Given the description of an element on the screen output the (x, y) to click on. 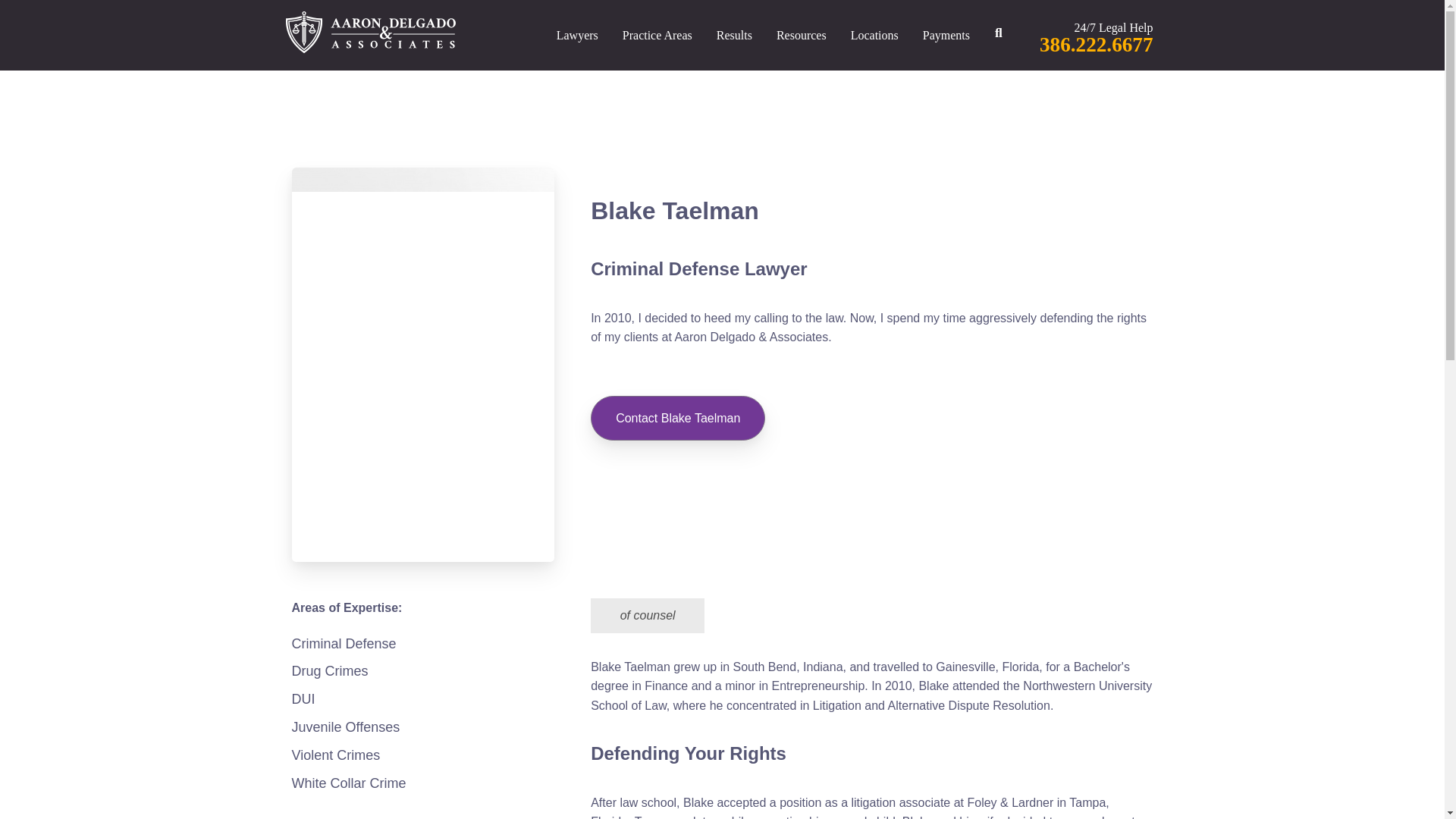
Practice Areas (657, 35)
Payments (946, 35)
Locations (874, 35)
Lawyers (577, 35)
Resources (801, 35)
Results (734, 35)
